Given the description of an element on the screen output the (x, y) to click on. 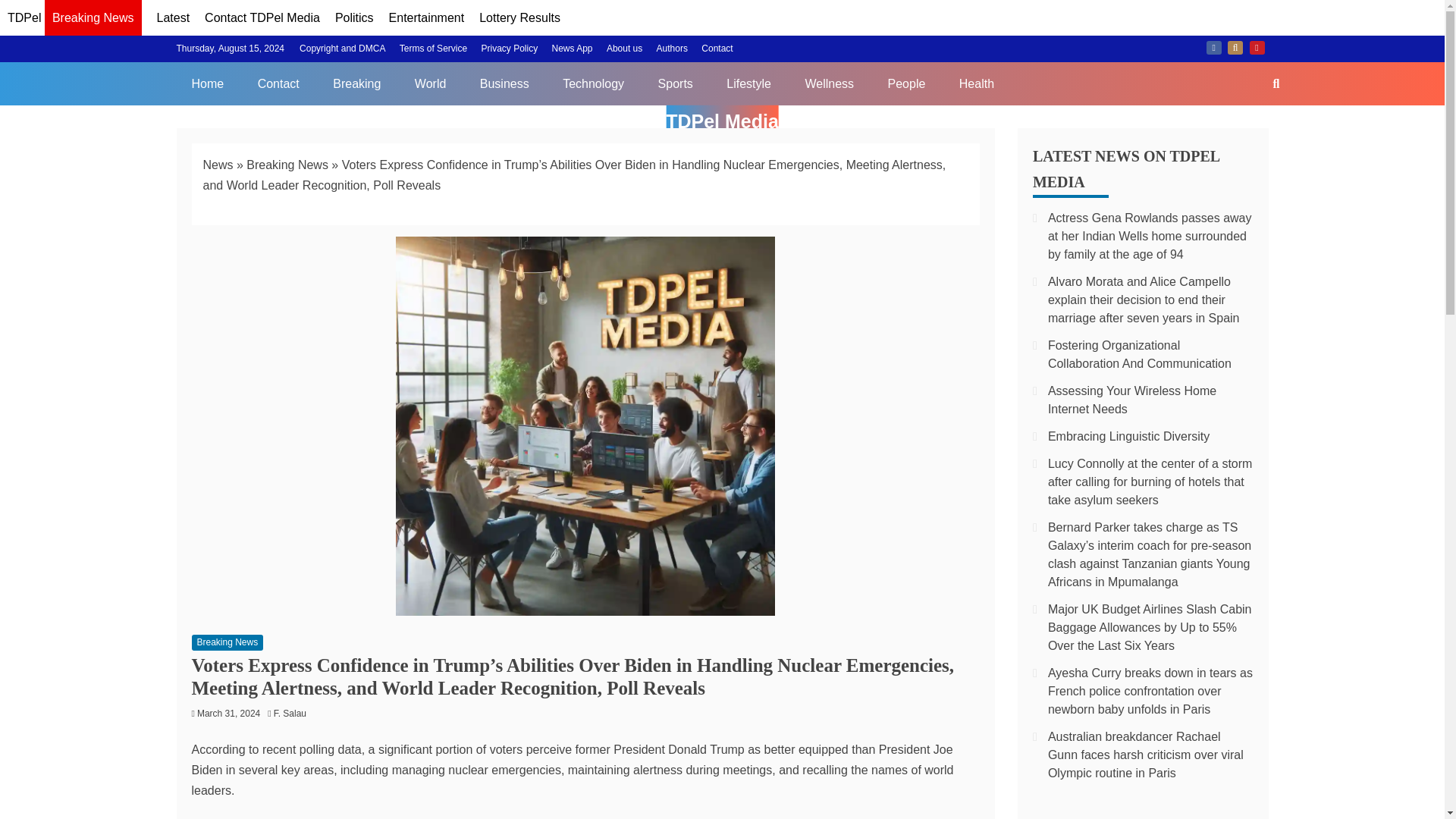
Twitter (1235, 47)
Facebook (1214, 47)
Contact (716, 48)
Health (976, 83)
Pinterest (1257, 47)
TDPel (23, 17)
Wellness (829, 83)
Home (207, 83)
Contact TDPel Media (262, 17)
March 31, 2024 (228, 713)
